Given the description of an element on the screen output the (x, y) to click on. 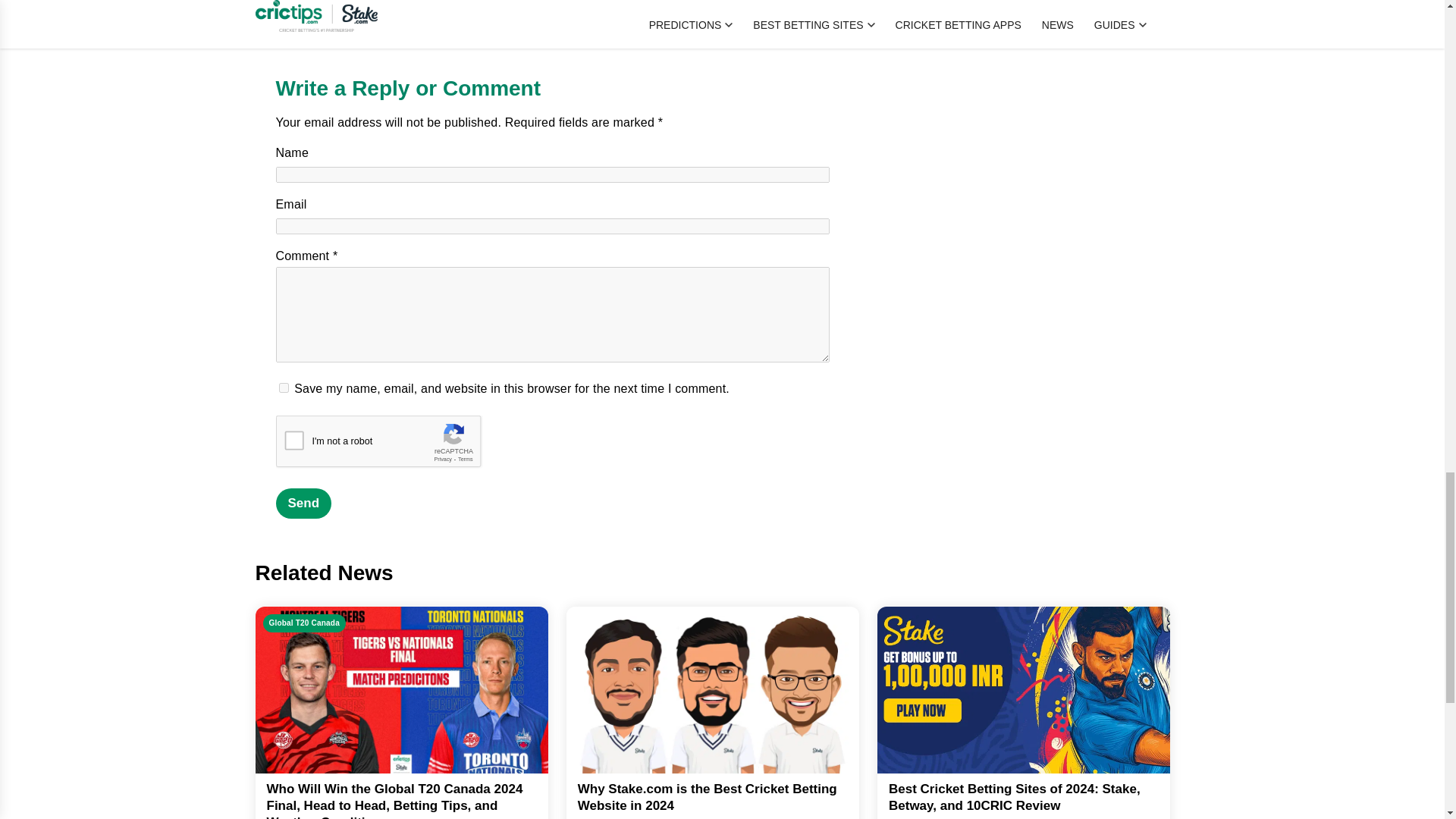
Send (303, 503)
yes (283, 388)
reCAPTCHA (391, 445)
